Given the description of an element on the screen output the (x, y) to click on. 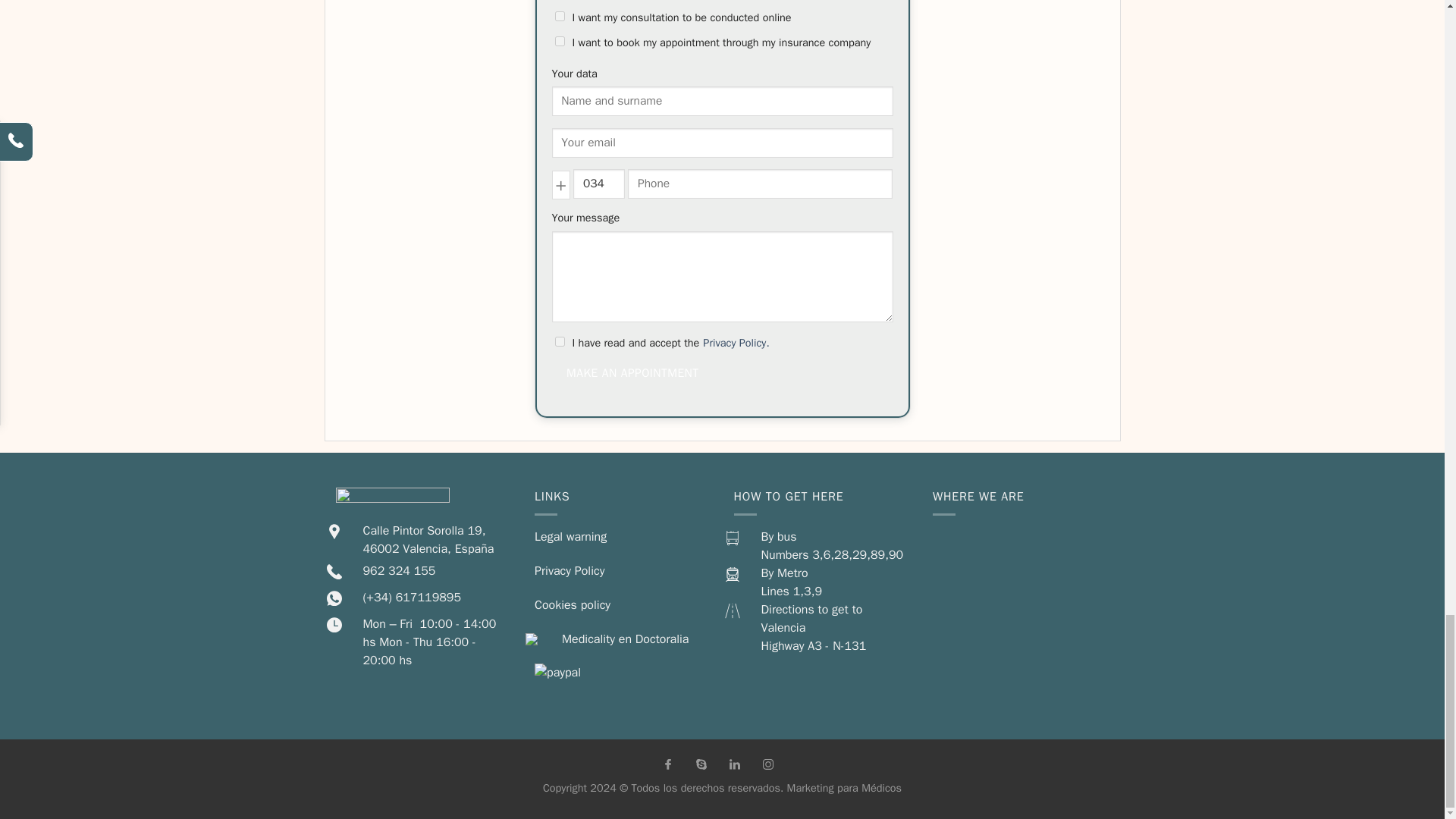
034 (598, 183)
online (559, 16)
seguro (559, 40)
privacidad (559, 341)
